Given the description of an element on the screen output the (x, y) to click on. 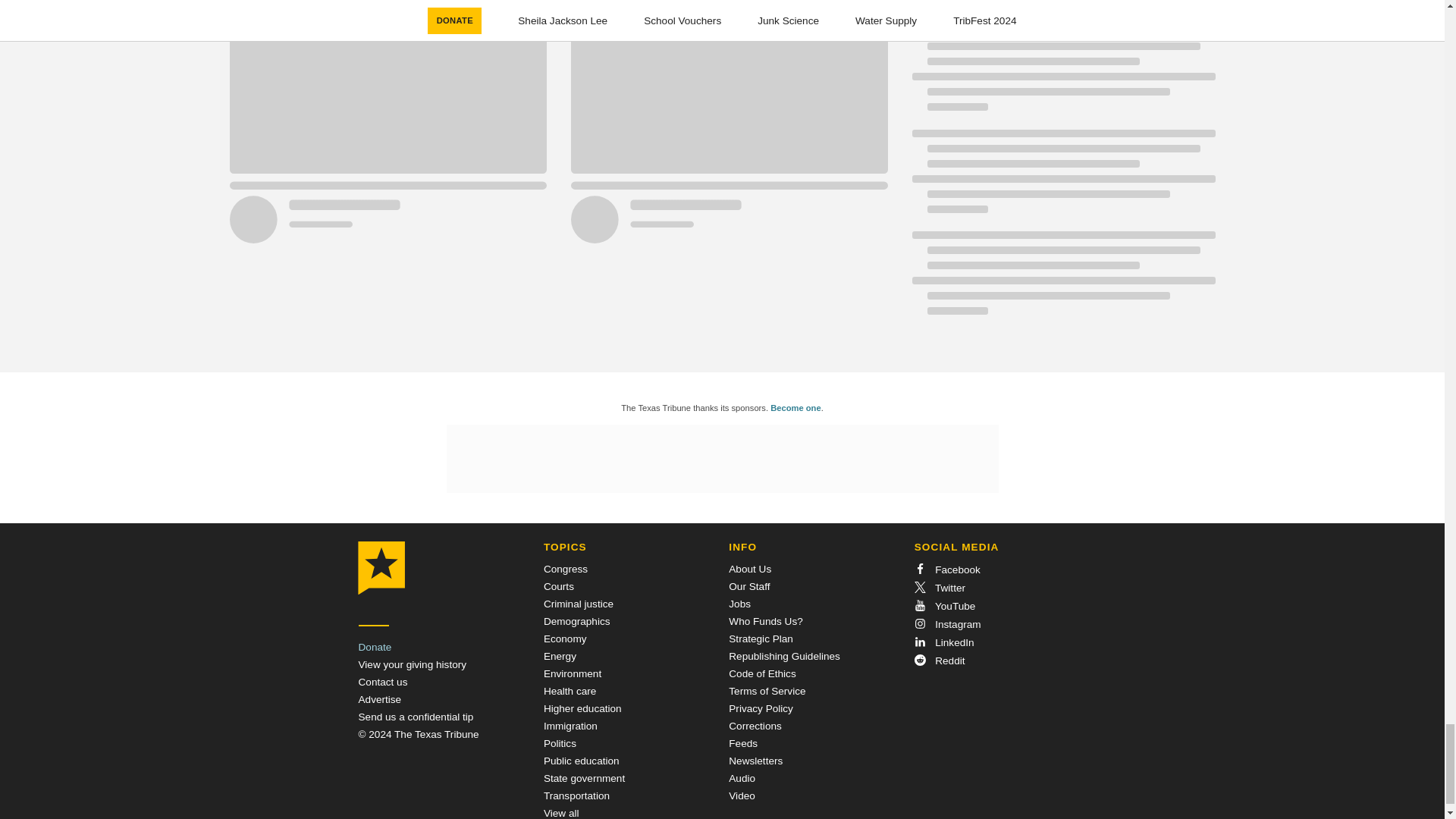
Loading indicator (557, 5)
Donate (374, 646)
Newsletters (756, 760)
Who Funds Us? (765, 621)
Strategic Plan (761, 638)
Facebook (946, 569)
Audio (742, 778)
Contact us (382, 681)
Advertise (379, 699)
Terms of Service (767, 690)
